Given the description of an element on the screen output the (x, y) to click on. 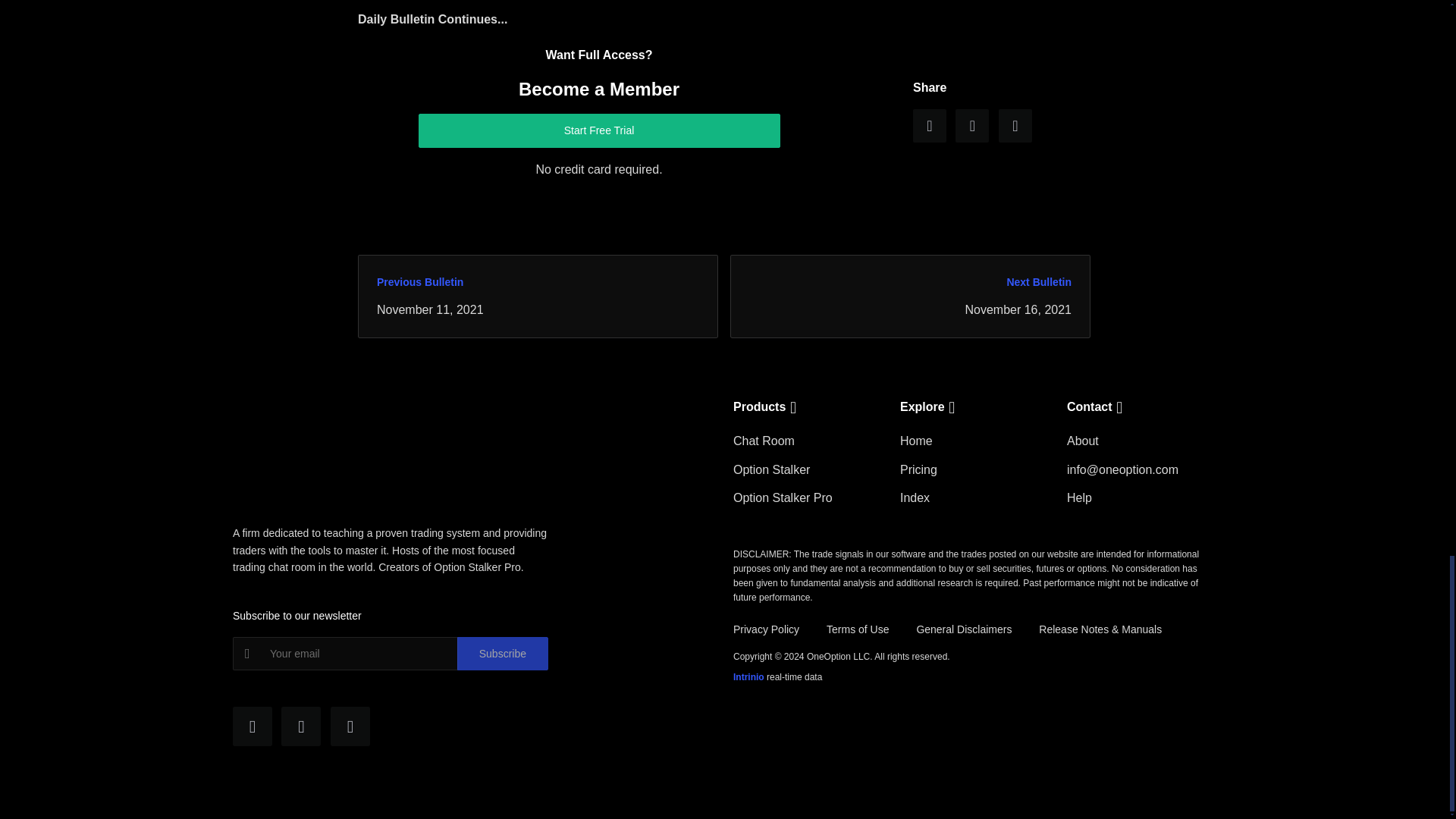
Start Free Trial (599, 130)
Subscribe (502, 653)
